Given the description of an element on the screen output the (x, y) to click on. 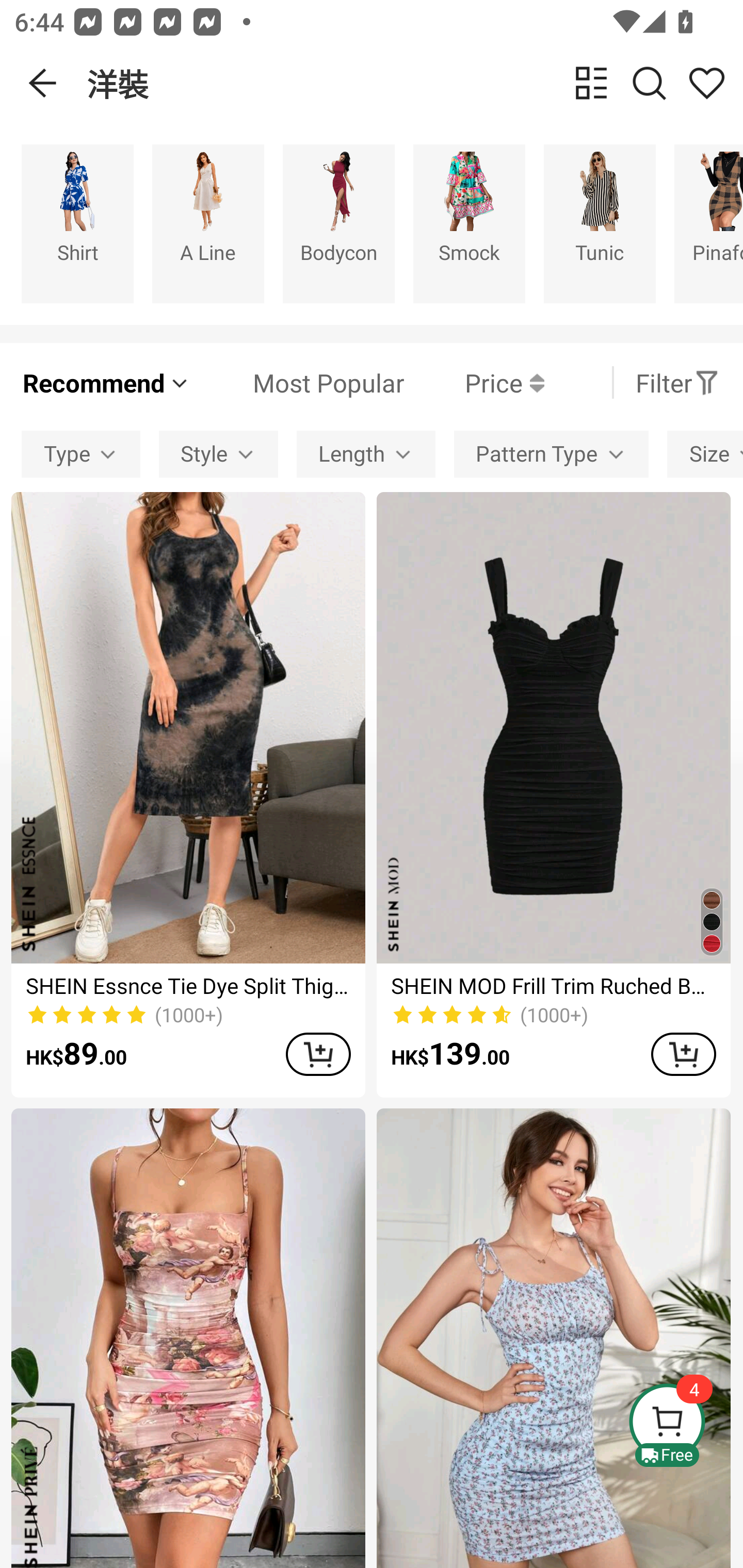
洋裝 change view Search Share (414, 82)
change view (591, 82)
Search (648, 82)
Share (706, 82)
Shirt (77, 223)
A Line (208, 223)
Bodycon (338, 223)
Smock (469, 223)
Tunic (599, 223)
Pinafore (708, 223)
Recommend (106, 382)
Most Popular (297, 382)
Price (474, 382)
Filter (677, 382)
Type (80, 454)
Style (218, 454)
Length (365, 454)
Pattern Type (550, 454)
Size (705, 454)
ADD TO CART (318, 1054)
ADD TO CART (683, 1054)
Free (685, 1424)
